Given the description of an element on the screen output the (x, y) to click on. 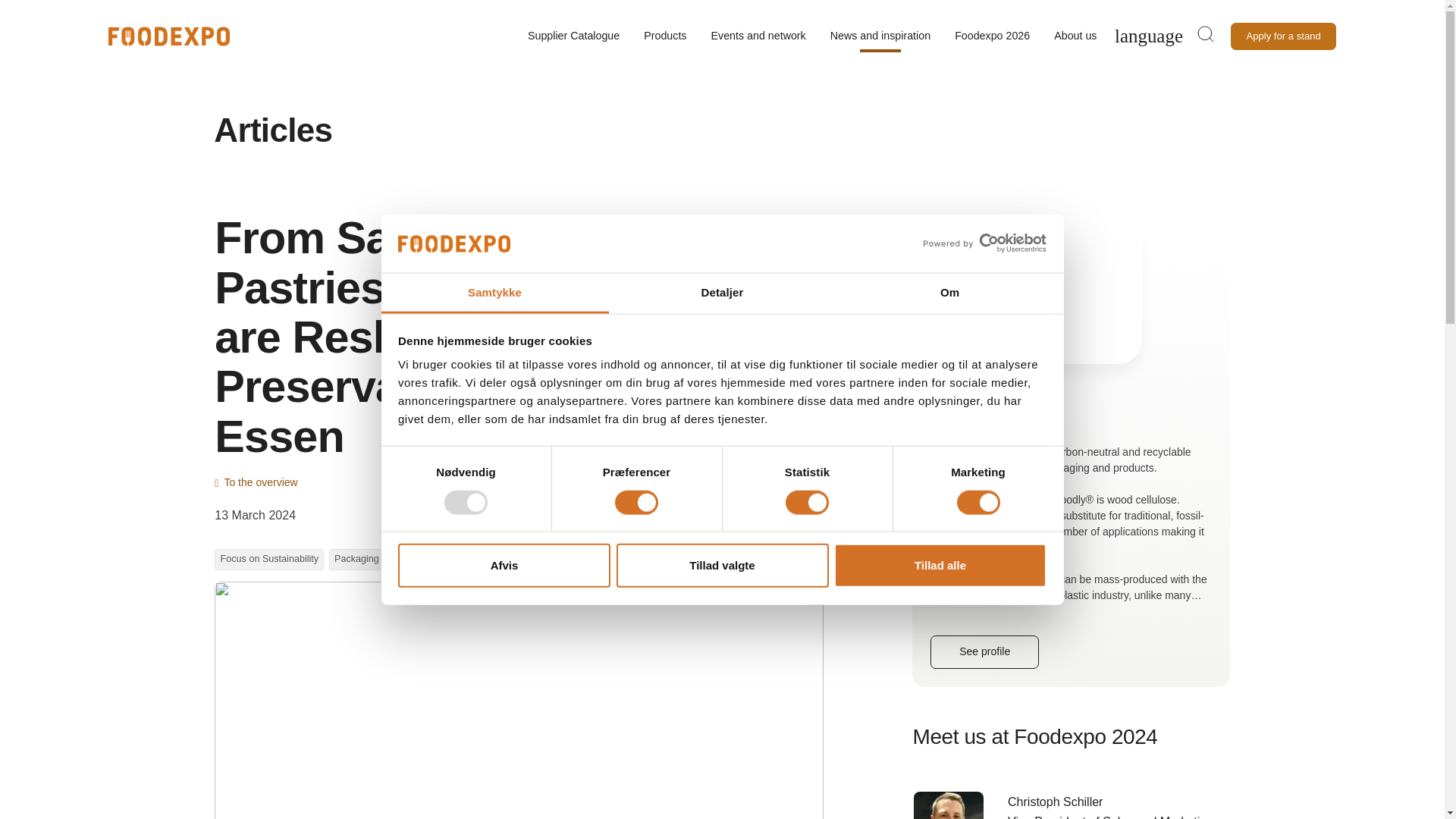
Om (948, 292)
Detaljer (721, 292)
Samtykke (494, 292)
